Given the description of an element on the screen output the (x, y) to click on. 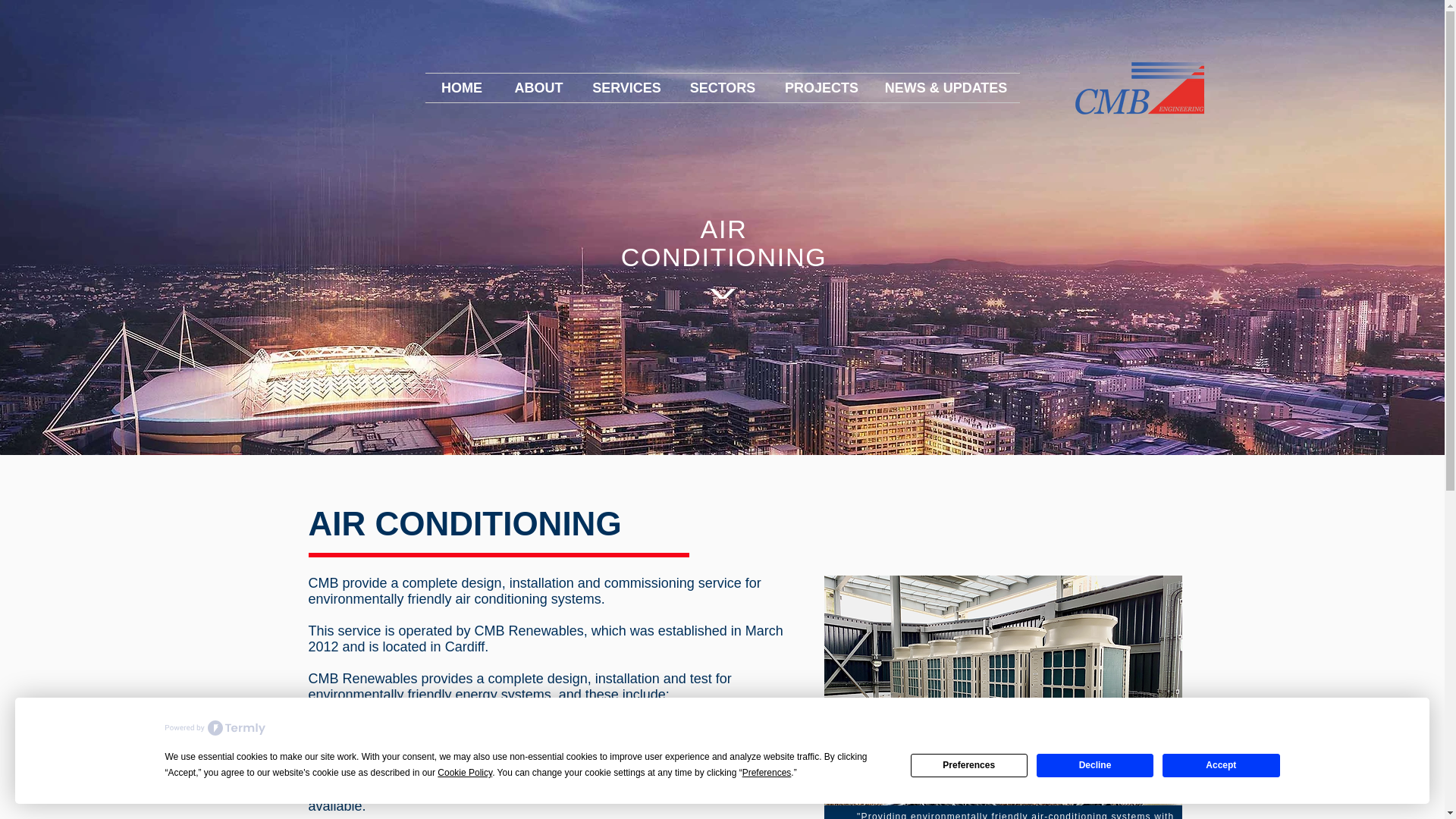
Preferences (969, 765)
ABOUT (539, 87)
PROJECTS (821, 87)
HOME (461, 87)
SERVICES (627, 87)
Decline (1094, 765)
SECTORS (723, 87)
Accept (1220, 765)
